Given the description of an element on the screen output the (x, y) to click on. 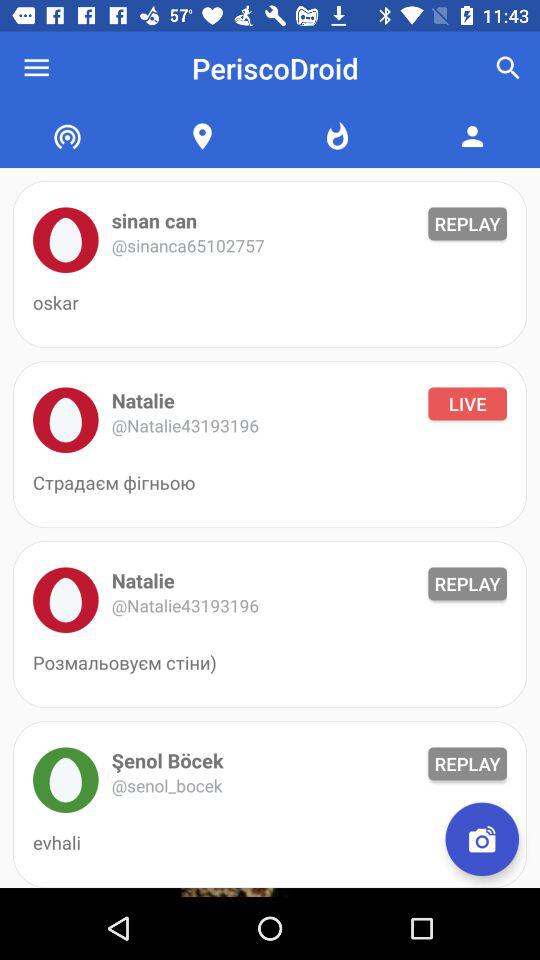
sinan can profile picture (65, 240)
